Given the description of an element on the screen output the (x, y) to click on. 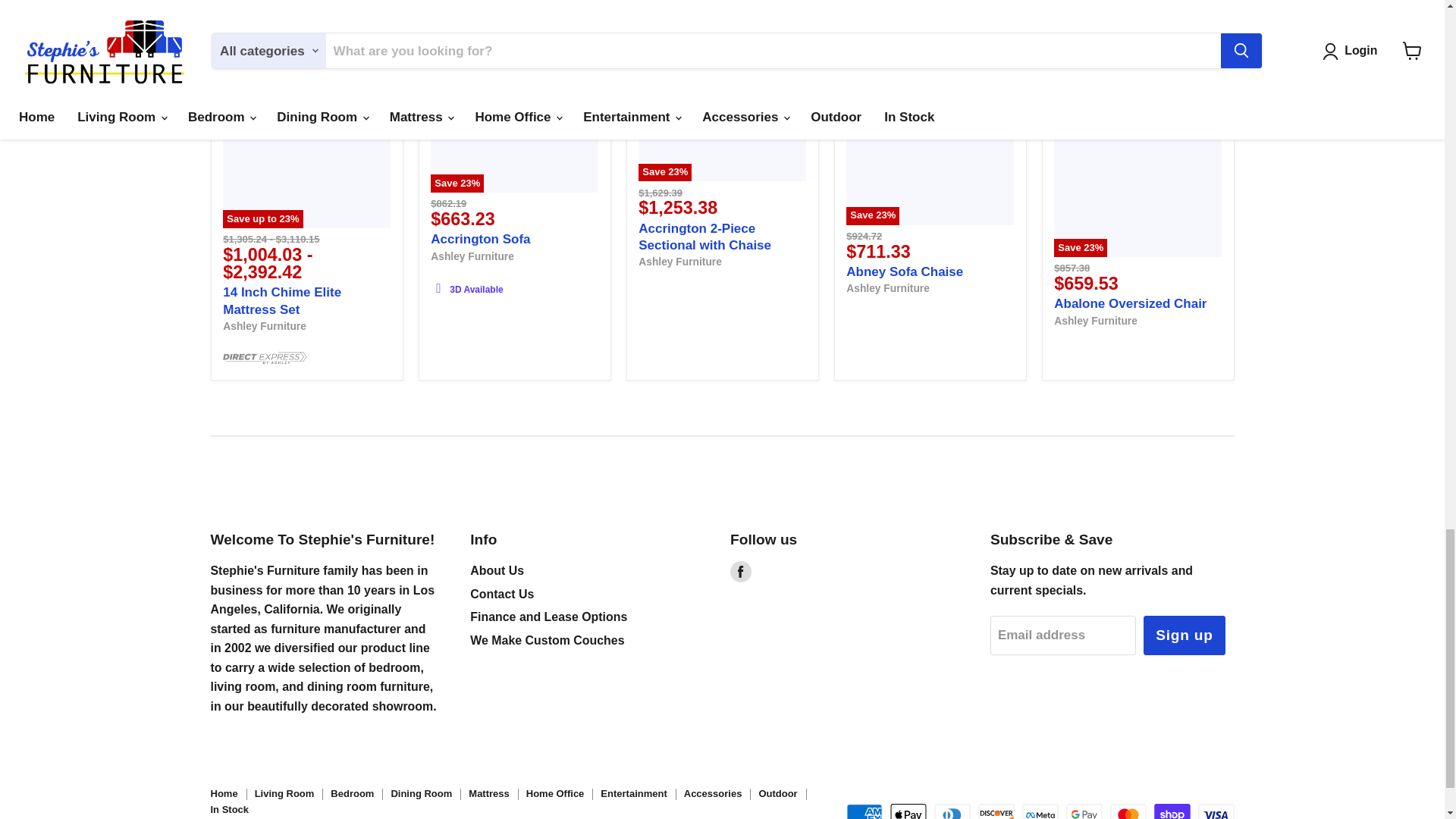
Facebook (740, 571)
Apple Pay (907, 811)
Ashley Furniture (680, 261)
Ashley Furniture (471, 256)
Ashley Furniture (263, 326)
Diners Club (952, 811)
Ashley Furniture (1095, 319)
Ashley Furniture (887, 287)
American Express (863, 811)
